Given the description of an element on the screen output the (x, y) to click on. 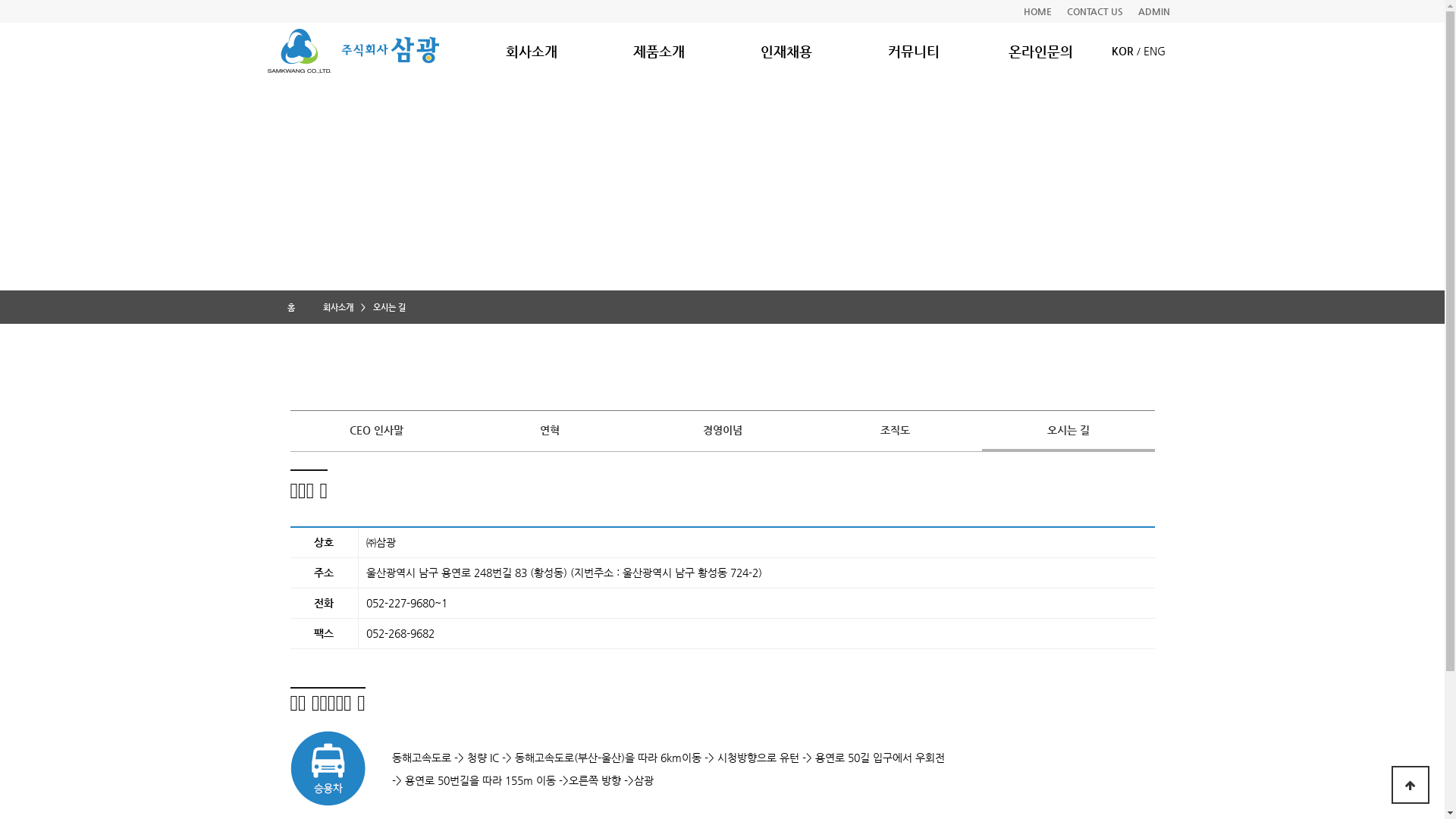
KOR Element type: text (1122, 50)
HOME Element type: text (1037, 11)
ENG Element type: text (1154, 50)
ADMIN Element type: text (1152, 11)
CONTACT US Element type: text (1093, 11)
